Given the description of an element on the screen output the (x, y) to click on. 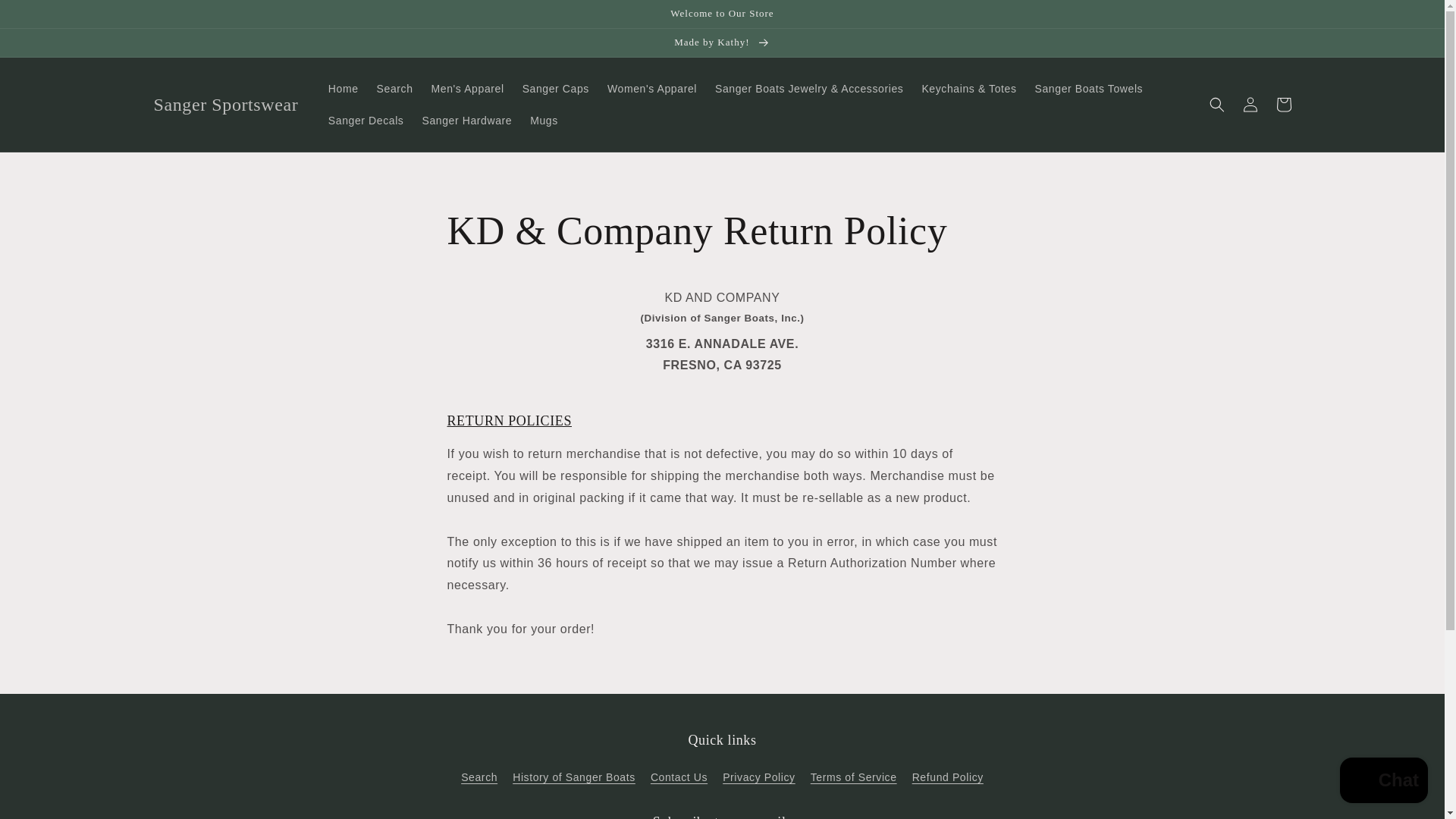
Log in (1249, 104)
Search (479, 779)
Mugs (544, 120)
Contact Us (678, 777)
Sanger Sportswear (226, 103)
Skip to content (45, 16)
Privacy Policy (758, 777)
Women's Apparel (652, 88)
Shopify online store chat (1383, 781)
Home (343, 88)
